Given the description of an element on the screen output the (x, y) to click on. 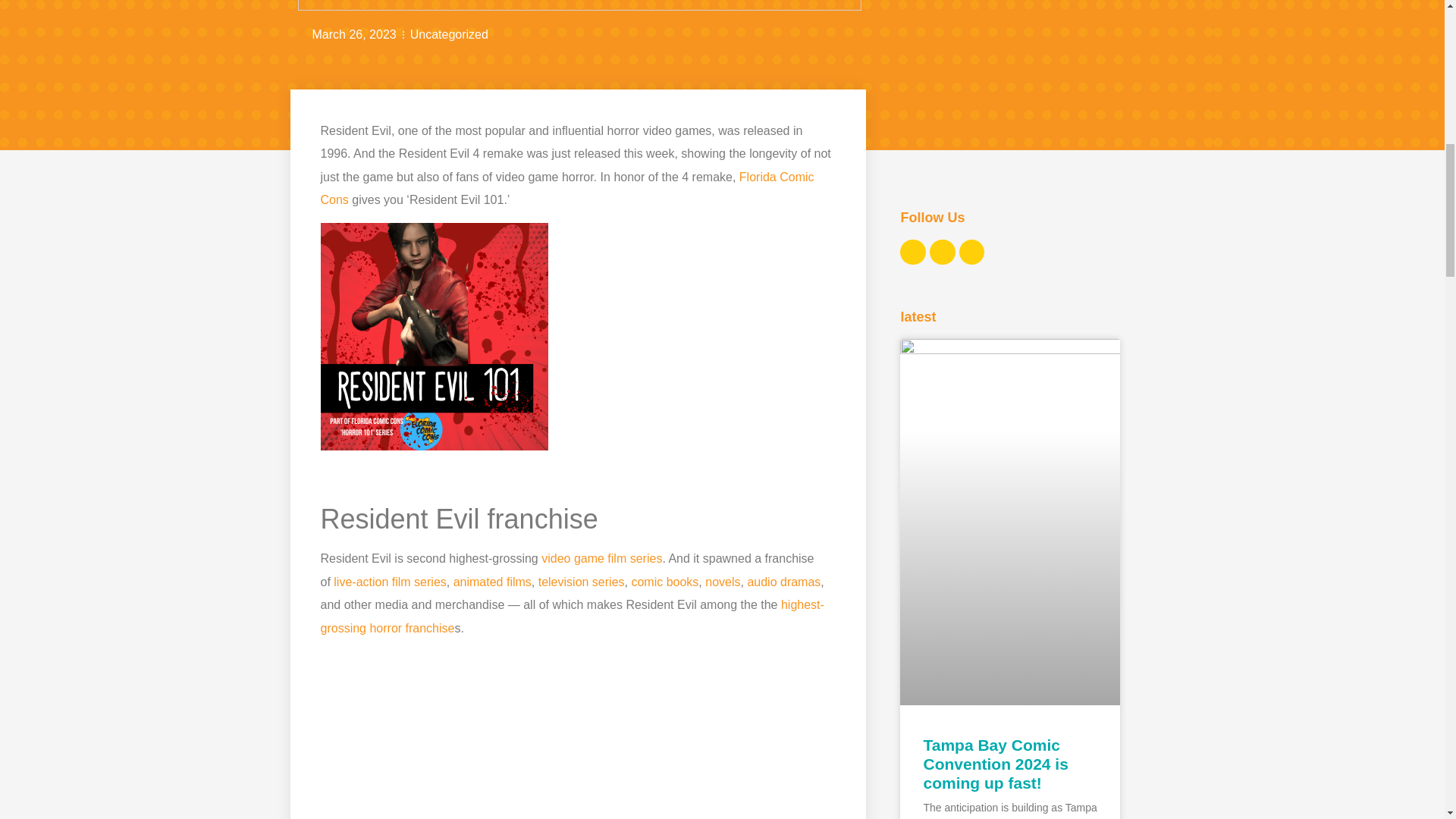
Audio drama (783, 581)
Comic book (664, 581)
March 26, 2023 (346, 34)
video game film series (601, 558)
novels (721, 581)
List of highest-grossing media franchises (572, 615)
Uncategorized (448, 33)
television series (581, 581)
List of highest-grossing films based on video games (601, 558)
Novel (721, 581)
